Given the description of an element on the screen output the (x, y) to click on. 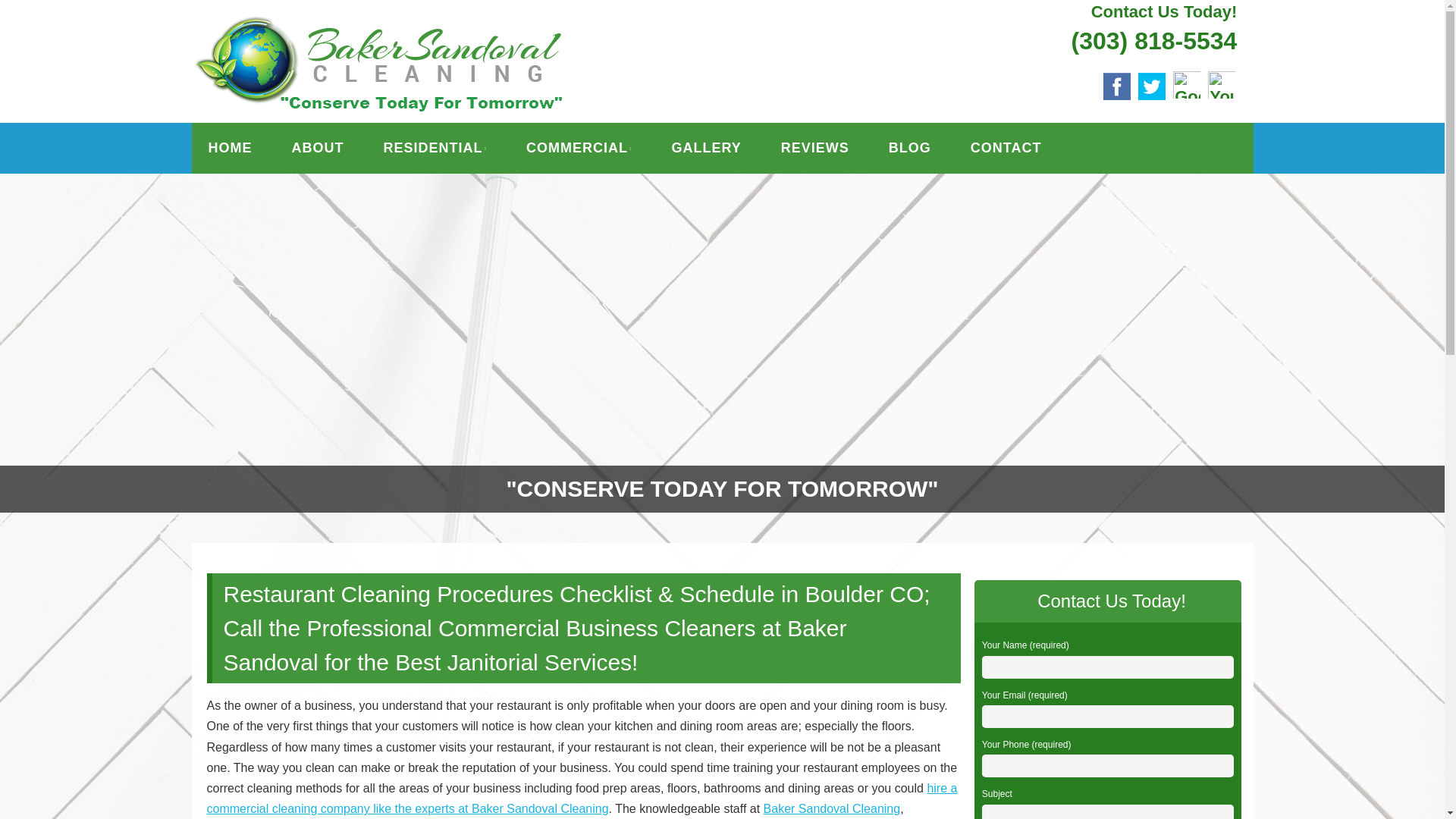
Baker Sandoval Cleaning (831, 808)
RESIDENTIAL (435, 148)
GALLERY (705, 148)
BLOG (909, 148)
COMMERCIAL (578, 148)
REVIEWS (815, 148)
HOME (229, 148)
ABOUT (316, 148)
CONTACT (1005, 148)
